Given the description of an element on the screen output the (x, y) to click on. 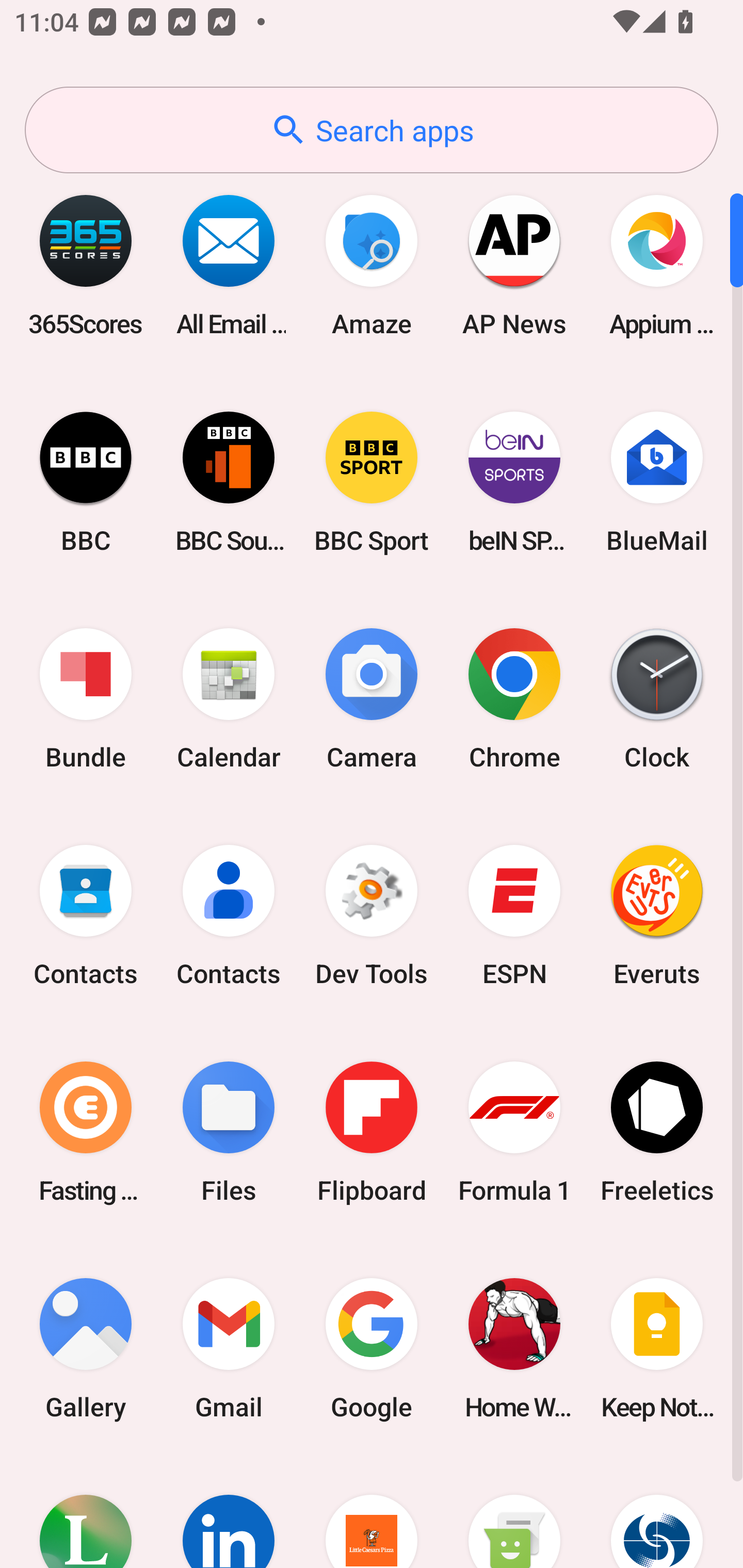
  Search apps (371, 130)
365Scores (85, 264)
All Email Connect (228, 264)
Amaze (371, 264)
AP News (514, 264)
Appium Settings (656, 264)
BBC (85, 482)
BBC Sounds (228, 482)
BBC Sport (371, 482)
beIN SPORTS (514, 482)
BlueMail (656, 482)
Bundle (85, 699)
Calendar (228, 699)
Camera (371, 699)
Chrome (514, 699)
Clock (656, 699)
Contacts (85, 915)
Contacts (228, 915)
Dev Tools (371, 915)
ESPN (514, 915)
Everuts (656, 915)
Fasting Coach (85, 1131)
Files (228, 1131)
Flipboard (371, 1131)
Formula 1 (514, 1131)
Freeletics (656, 1131)
Gallery (85, 1348)
Gmail (228, 1348)
Google (371, 1348)
Home Workout (514, 1348)
Keep Notes (656, 1348)
Lifesum (85, 1512)
LinkedIn (228, 1512)
Little Caesars Pizza (371, 1512)
Messaging (514, 1512)
MyObservatory (656, 1512)
